Given the description of an element on the screen output the (x, y) to click on. 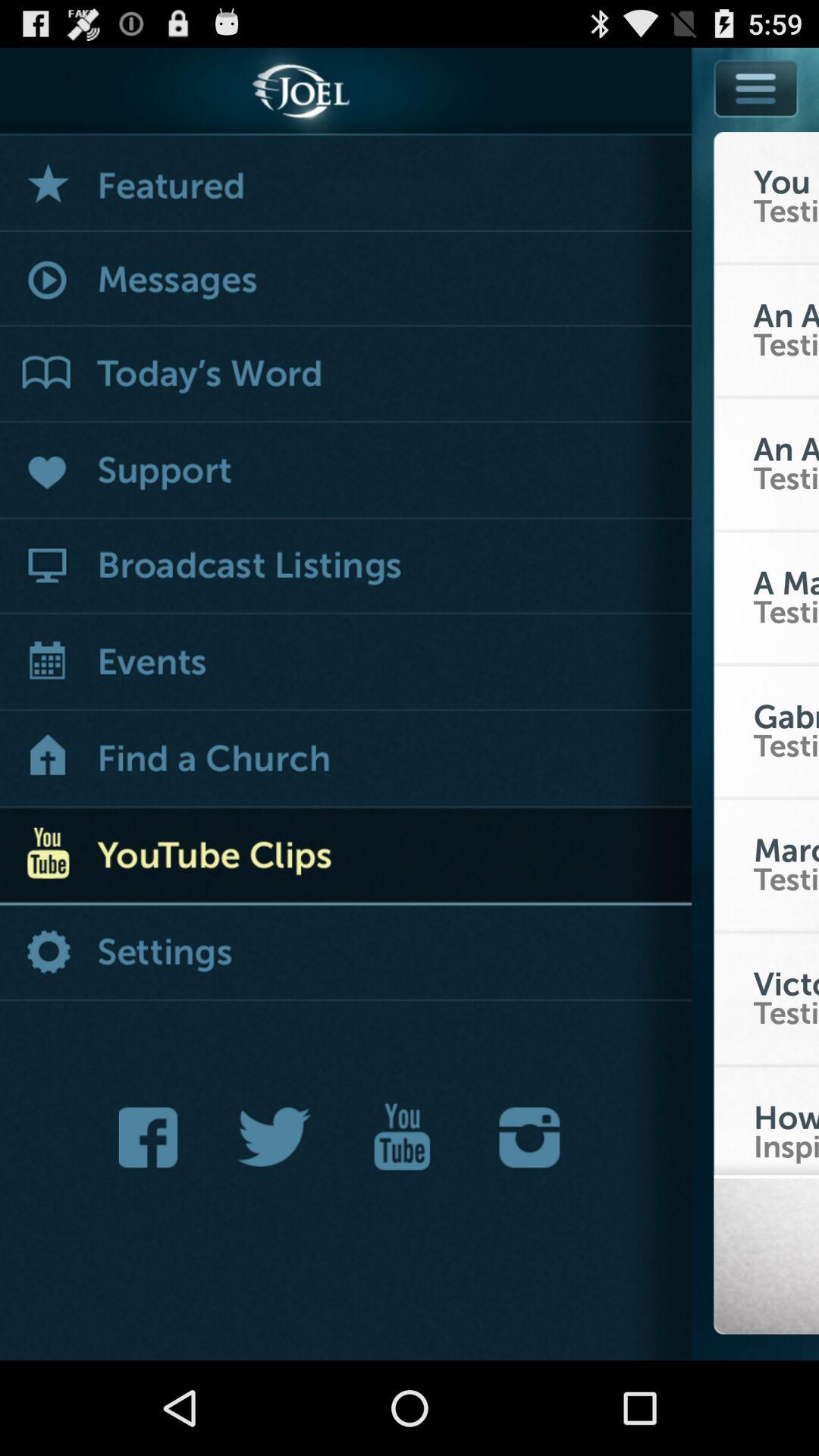
watch videos selected by joel 's (345, 183)
